Given the description of an element on the screen output the (x, y) to click on. 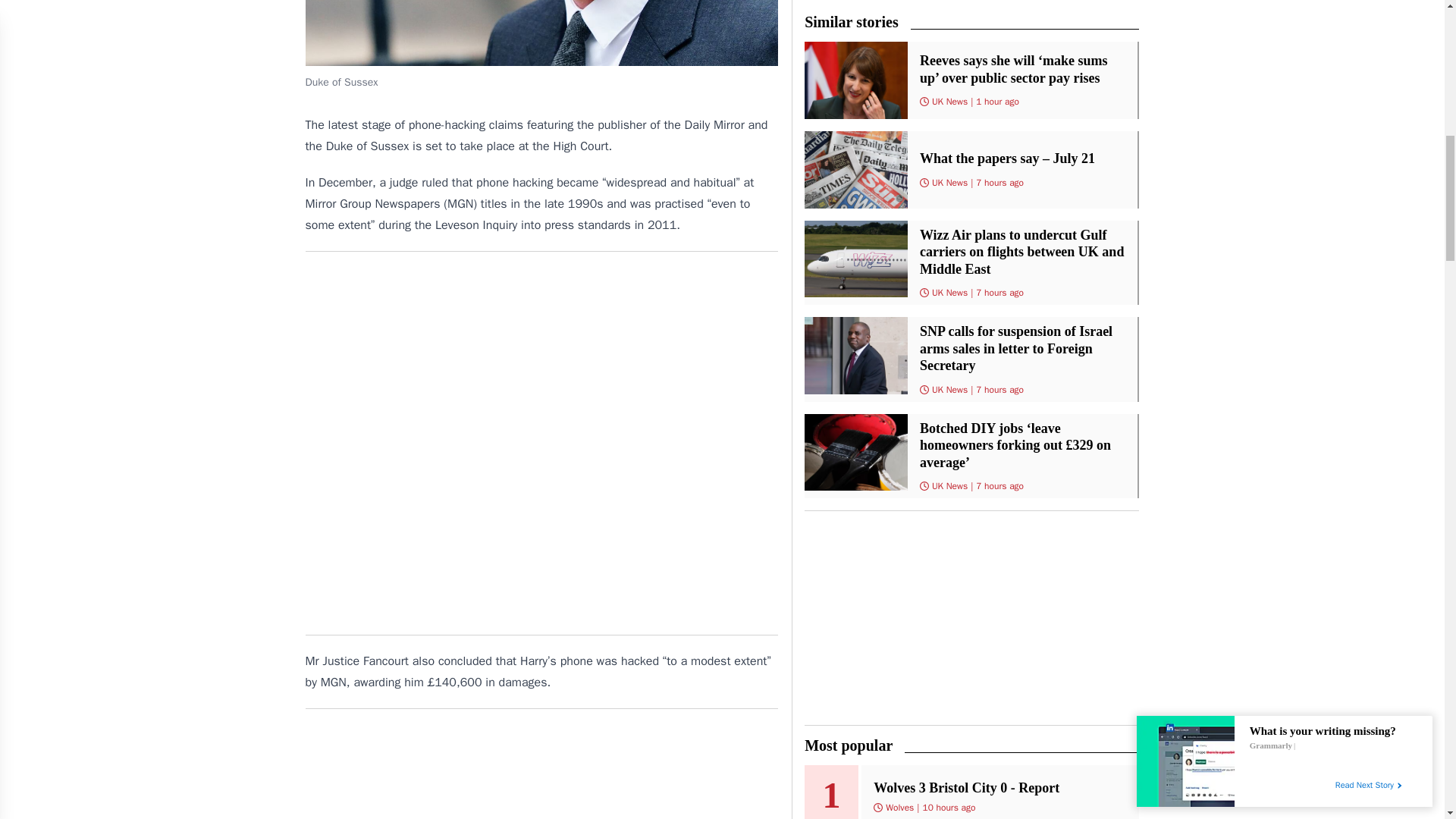
3rd party ad content (541, 770)
